Given the description of an element on the screen output the (x, y) to click on. 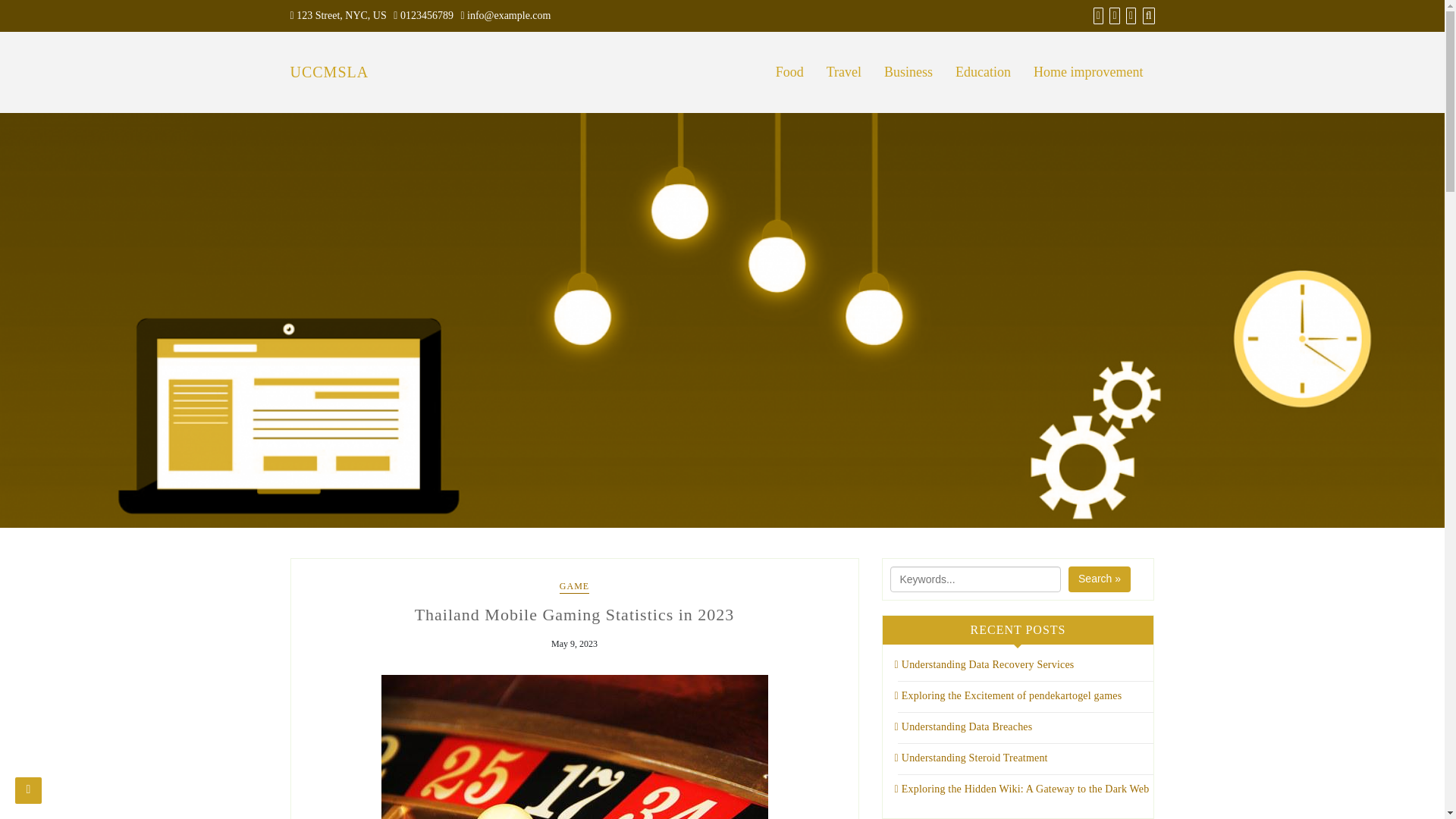
GAME (574, 586)
UCCMSLA (328, 71)
Understanding Data Recovery Services (984, 664)
Exploring the Excitement of pendekartogel games (1008, 695)
Understanding Steroid Treatment (971, 757)
Education (982, 72)
Home improvement (1088, 72)
Exploring the Hidden Wiki: A Gateway to the Dark Web (1022, 788)
Understanding Data Breaches (963, 726)
0123456789 (426, 15)
